Given the description of an element on the screen output the (x, y) to click on. 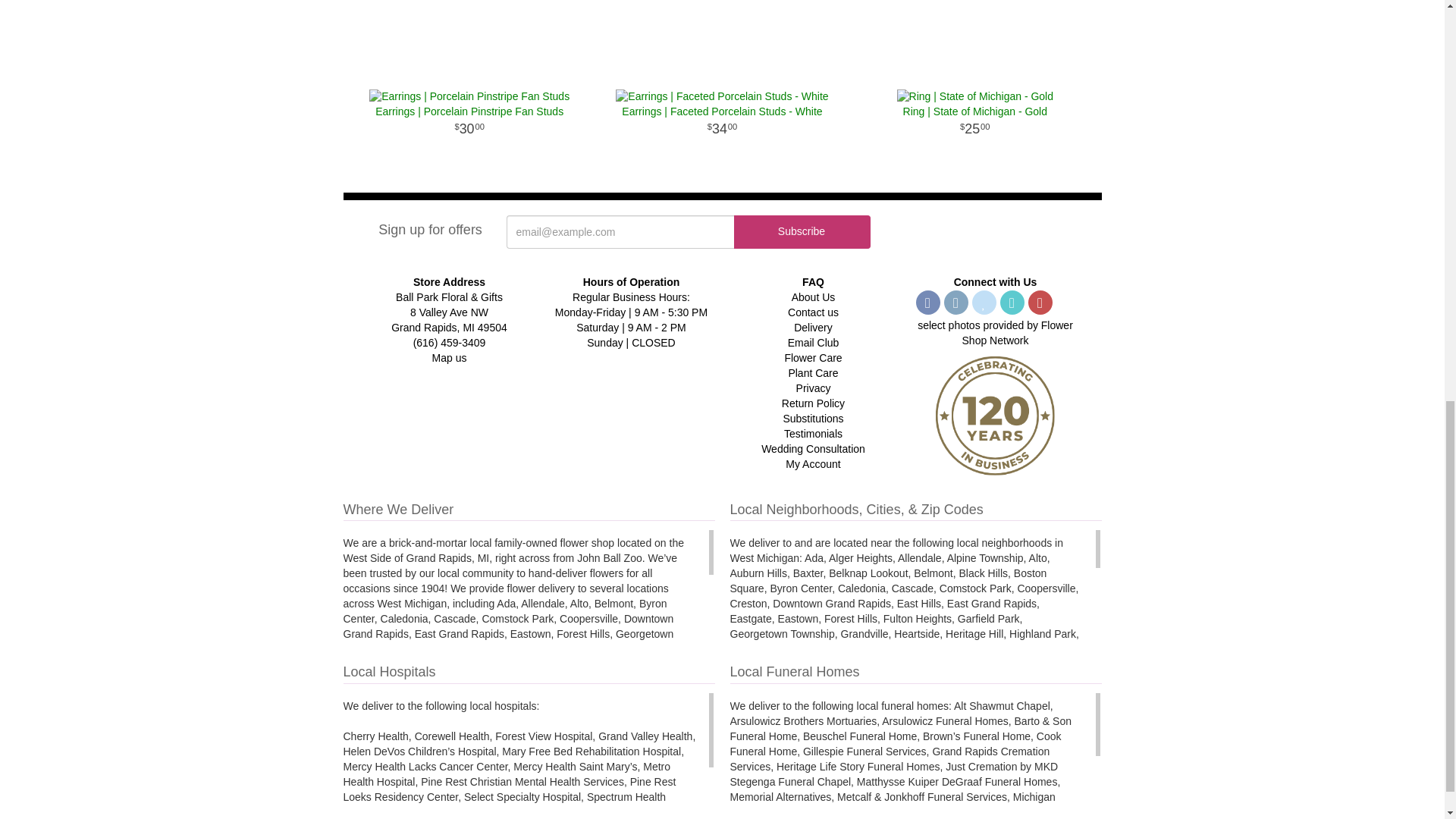
Subscribe (801, 231)
Return Policy (812, 403)
Plant care (812, 372)
